Given the description of an element on the screen output the (x, y) to click on. 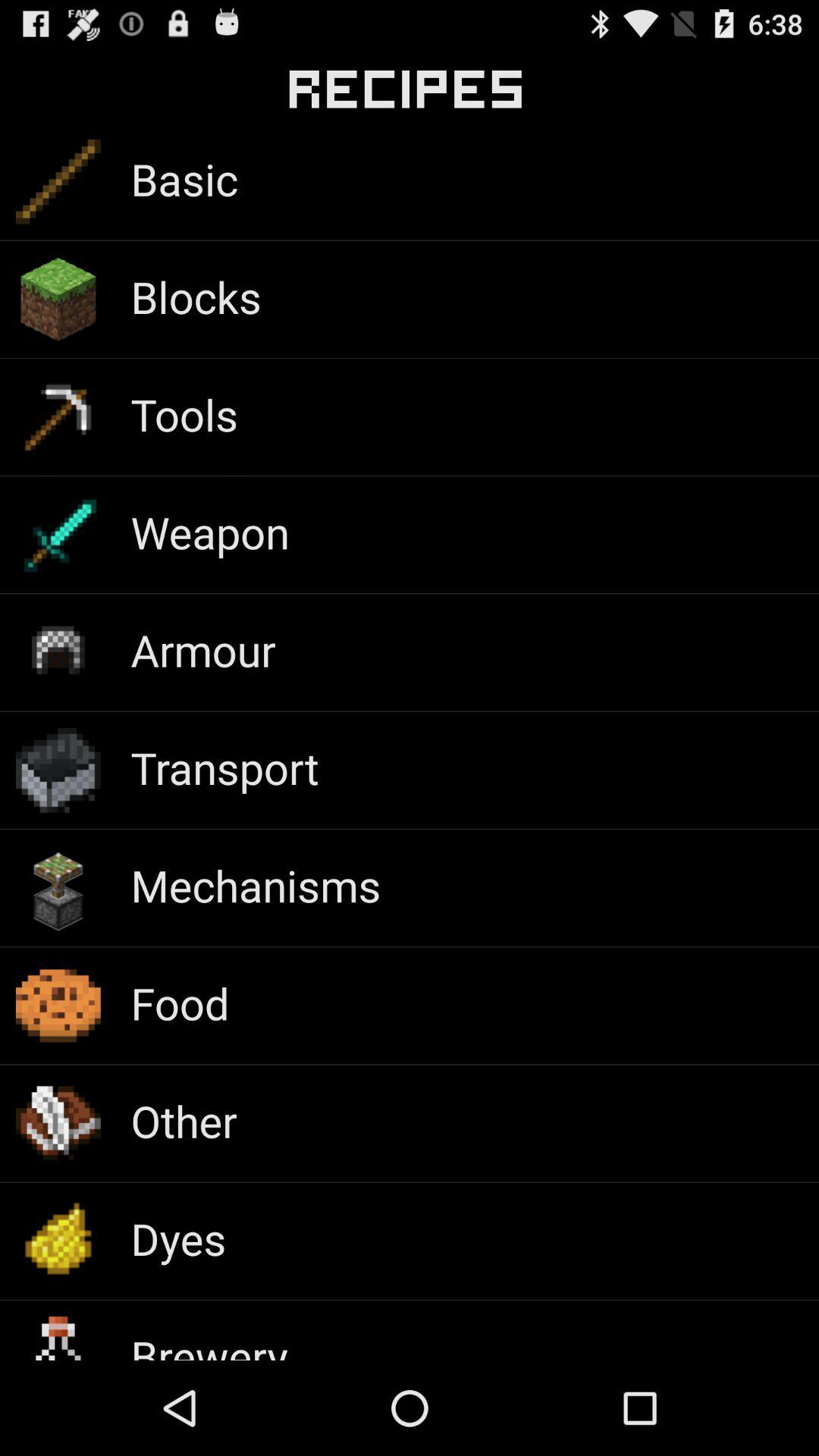
turn off the item below the other icon (178, 1238)
